Given the description of an element on the screen output the (x, y) to click on. 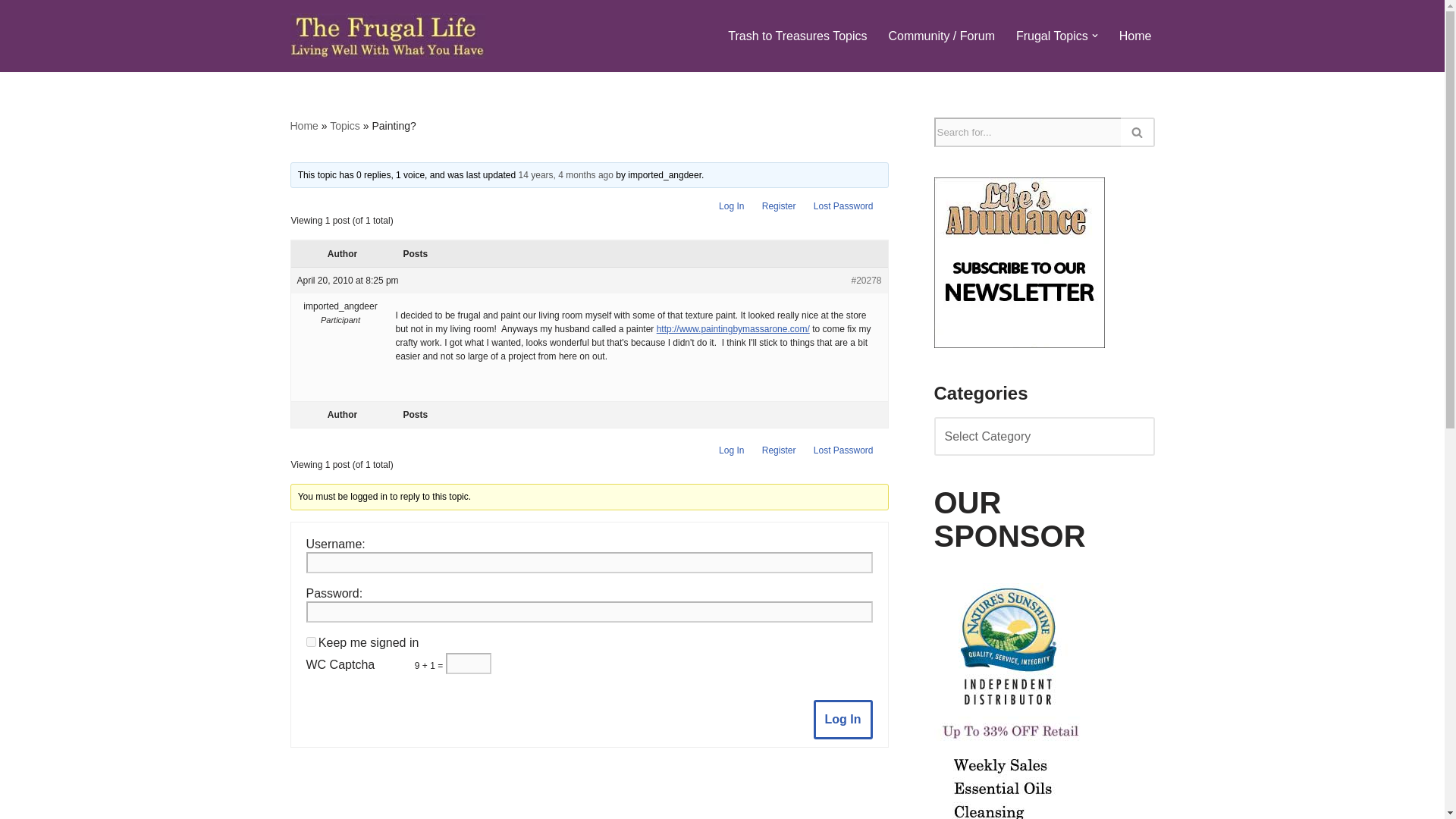
Painting? (565, 174)
forever (310, 642)
Trash to Treasures Topics (797, 35)
Home (1135, 35)
Frugal Topics (1051, 35)
Skip to content (11, 31)
